Given the description of an element on the screen output the (x, y) to click on. 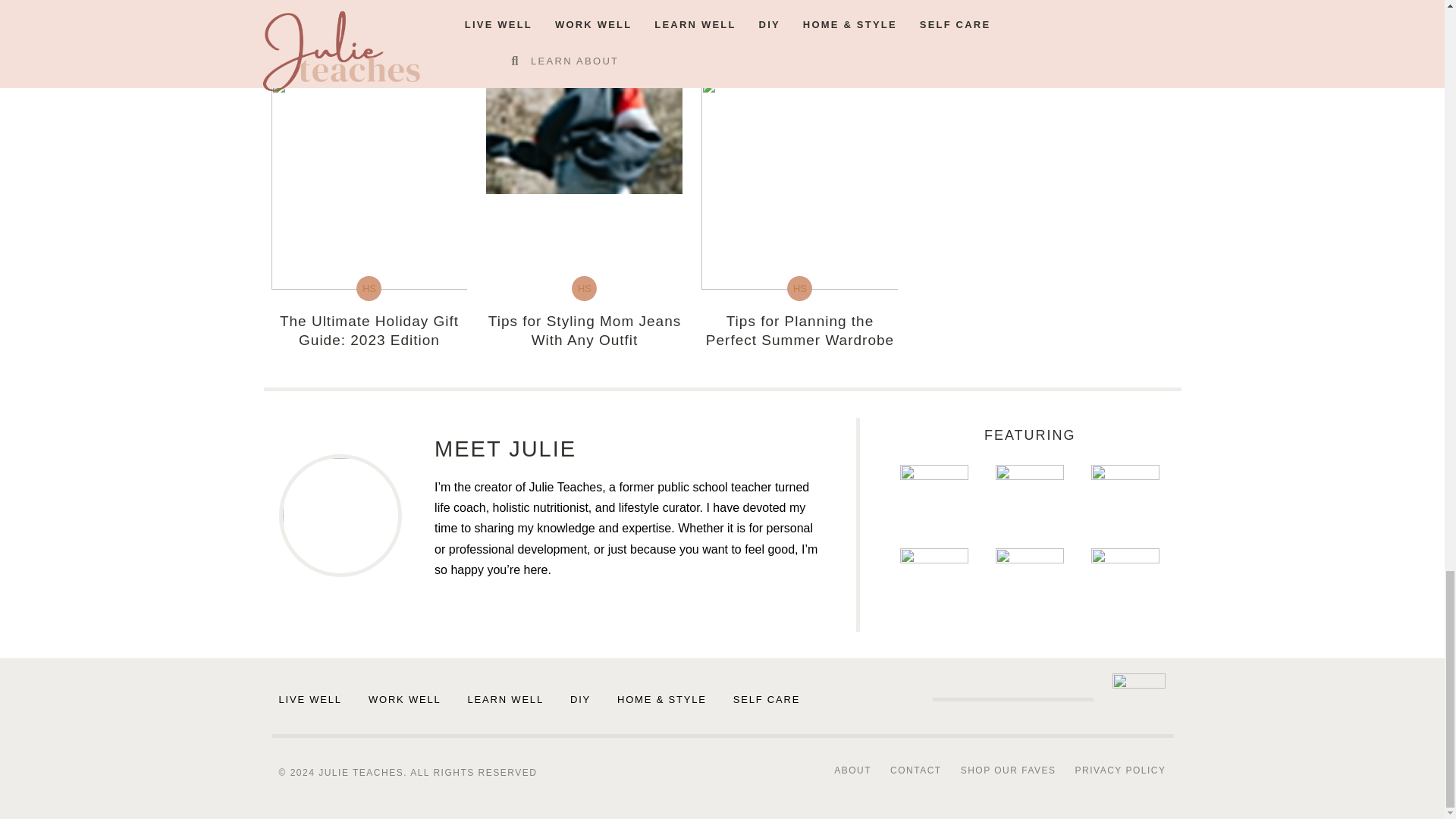
HS (368, 288)
The Ultimate Holiday Gift Guide: 2023 Edition (368, 330)
